Given the description of an element on the screen output the (x, y) to click on. 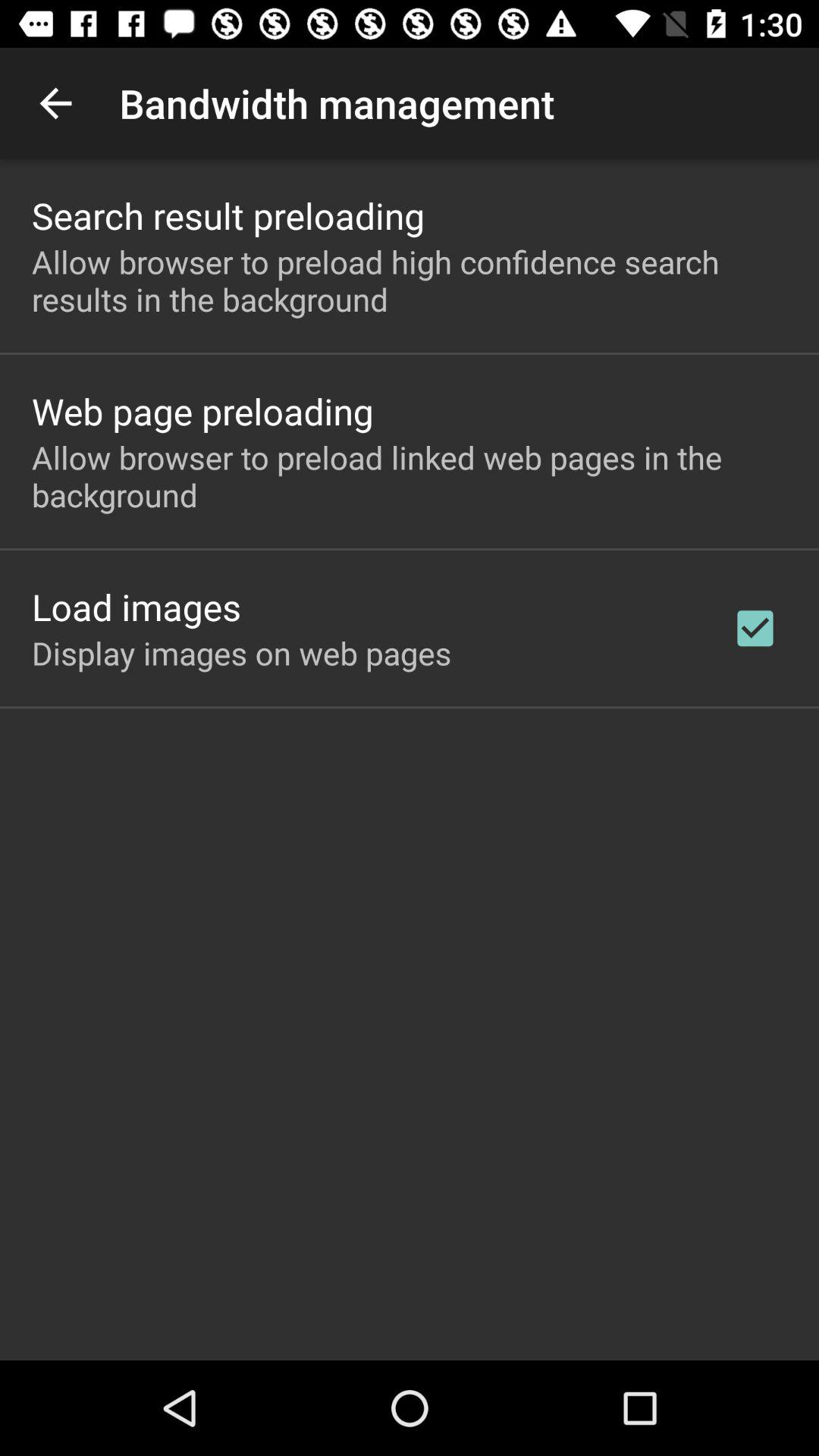
turn off the icon above allow browser to item (202, 410)
